Given the description of an element on the screen output the (x, y) to click on. 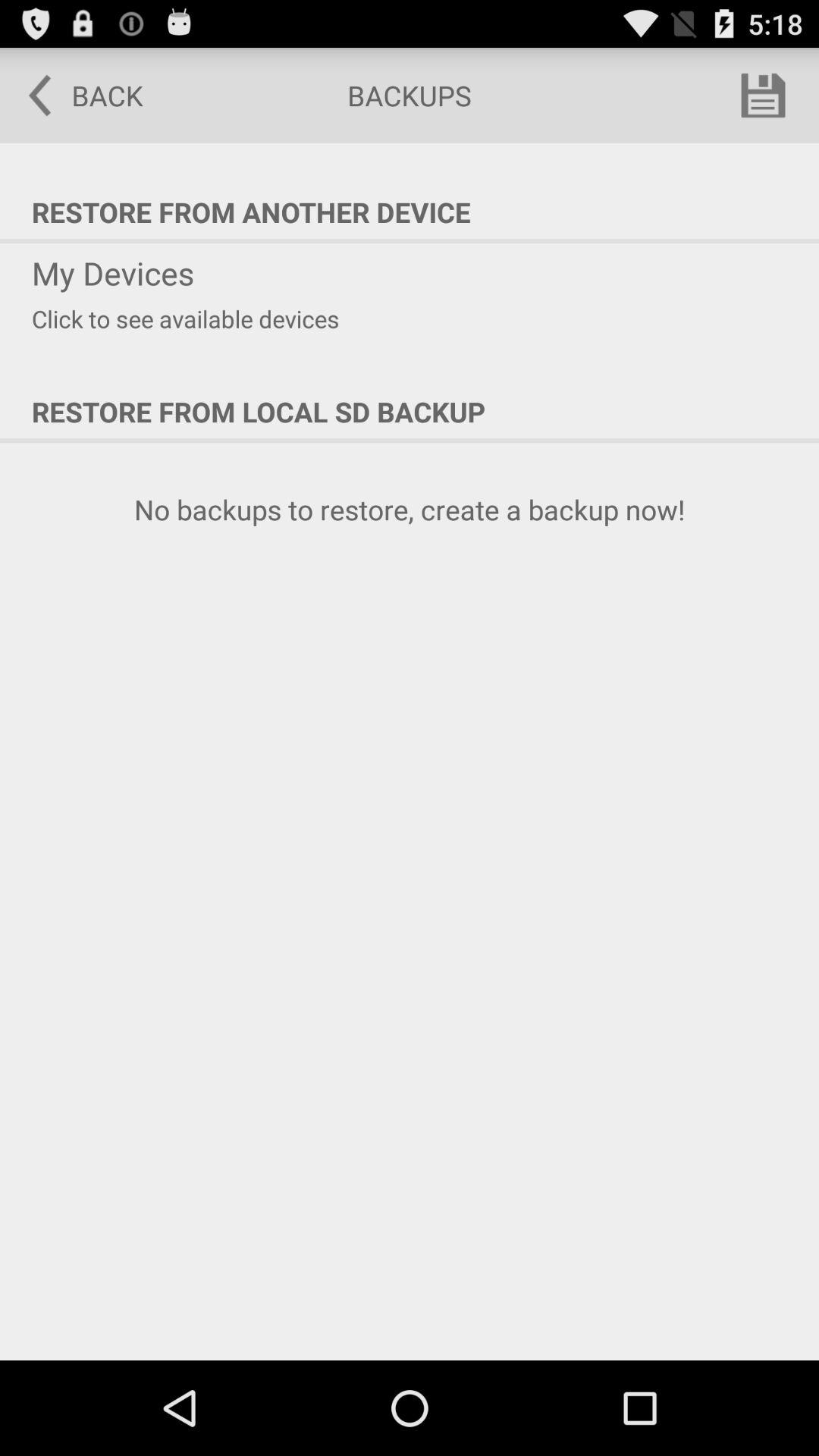
choose app next to the backups item (763, 95)
